Given the description of an element on the screen output the (x, y) to click on. 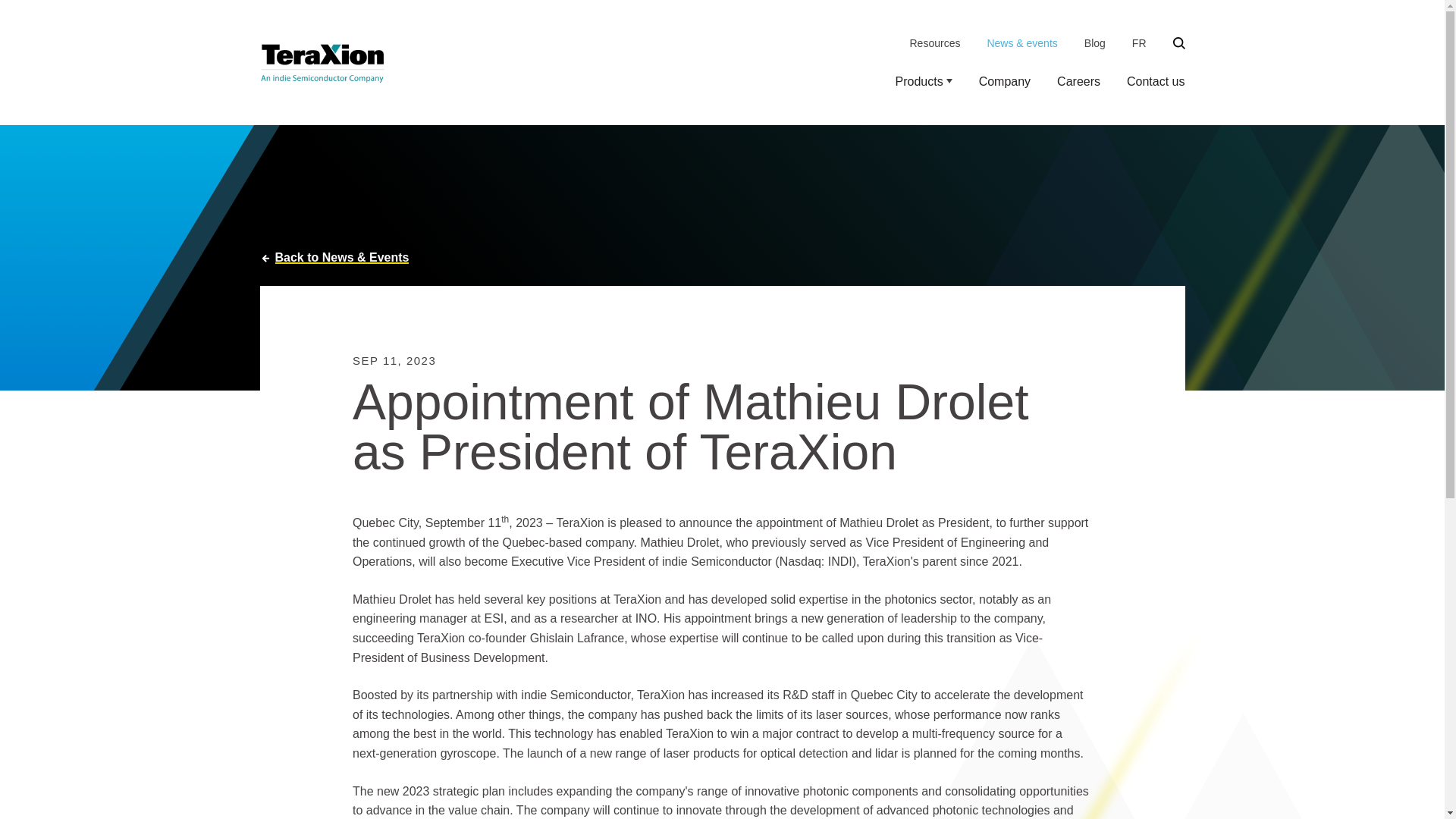
Products (923, 81)
Search (1178, 43)
Contact us (1155, 81)
Careers (1078, 81)
TeraXion (322, 62)
Resources (935, 43)
FR (1139, 43)
Company (1004, 81)
Blog (1094, 43)
